Given the description of an element on the screen output the (x, y) to click on. 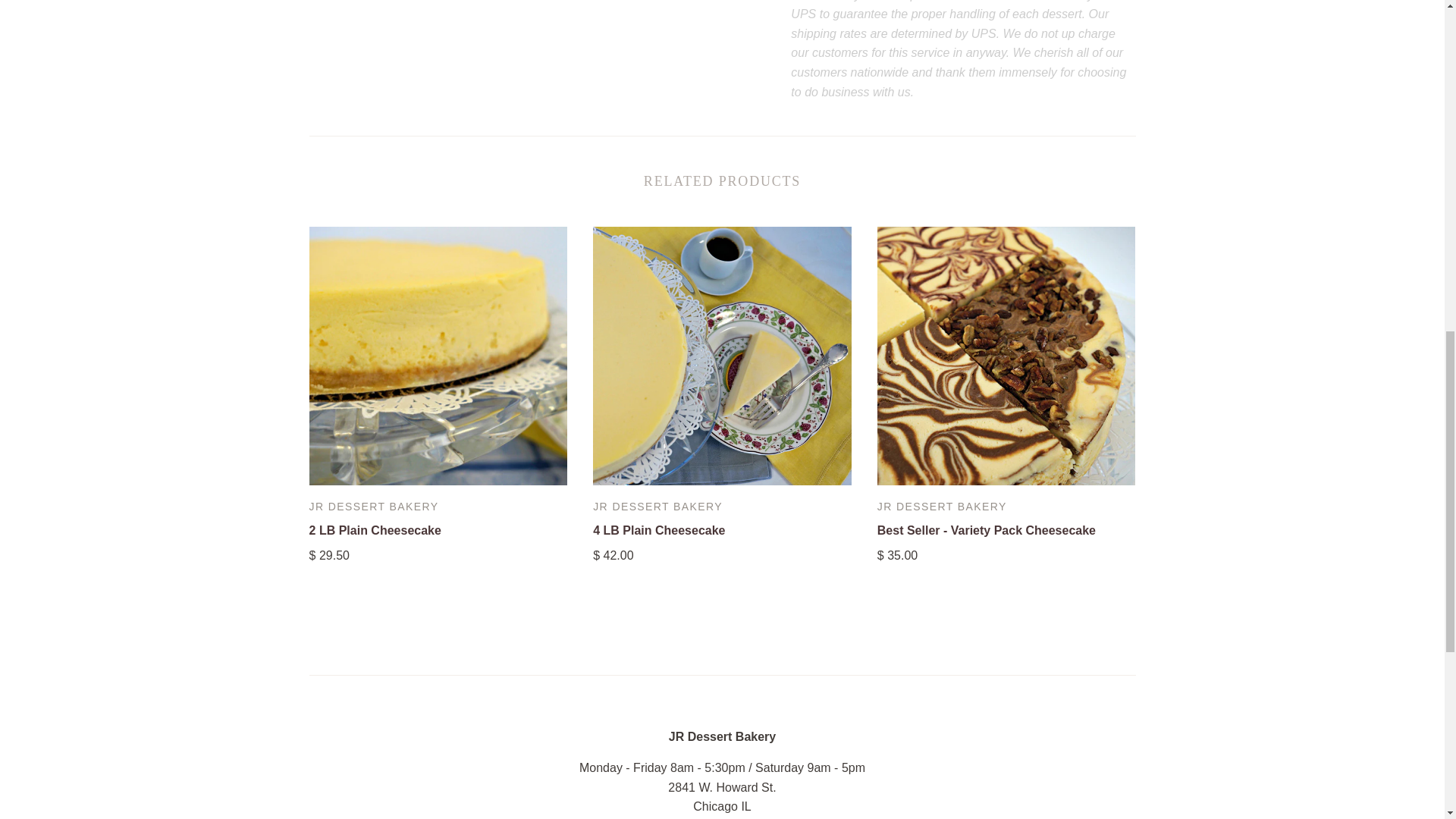
JR DESSERT BAKERY (657, 506)
2 LB Plain Cheesecake (374, 530)
Best Seller - Variety Pack Cheesecake (986, 530)
JR DESSERT BAKERY (373, 506)
JR DESSERT BAKERY (942, 506)
4 LB Plain Cheesecake (658, 530)
